Given the description of an element on the screen output the (x, y) to click on. 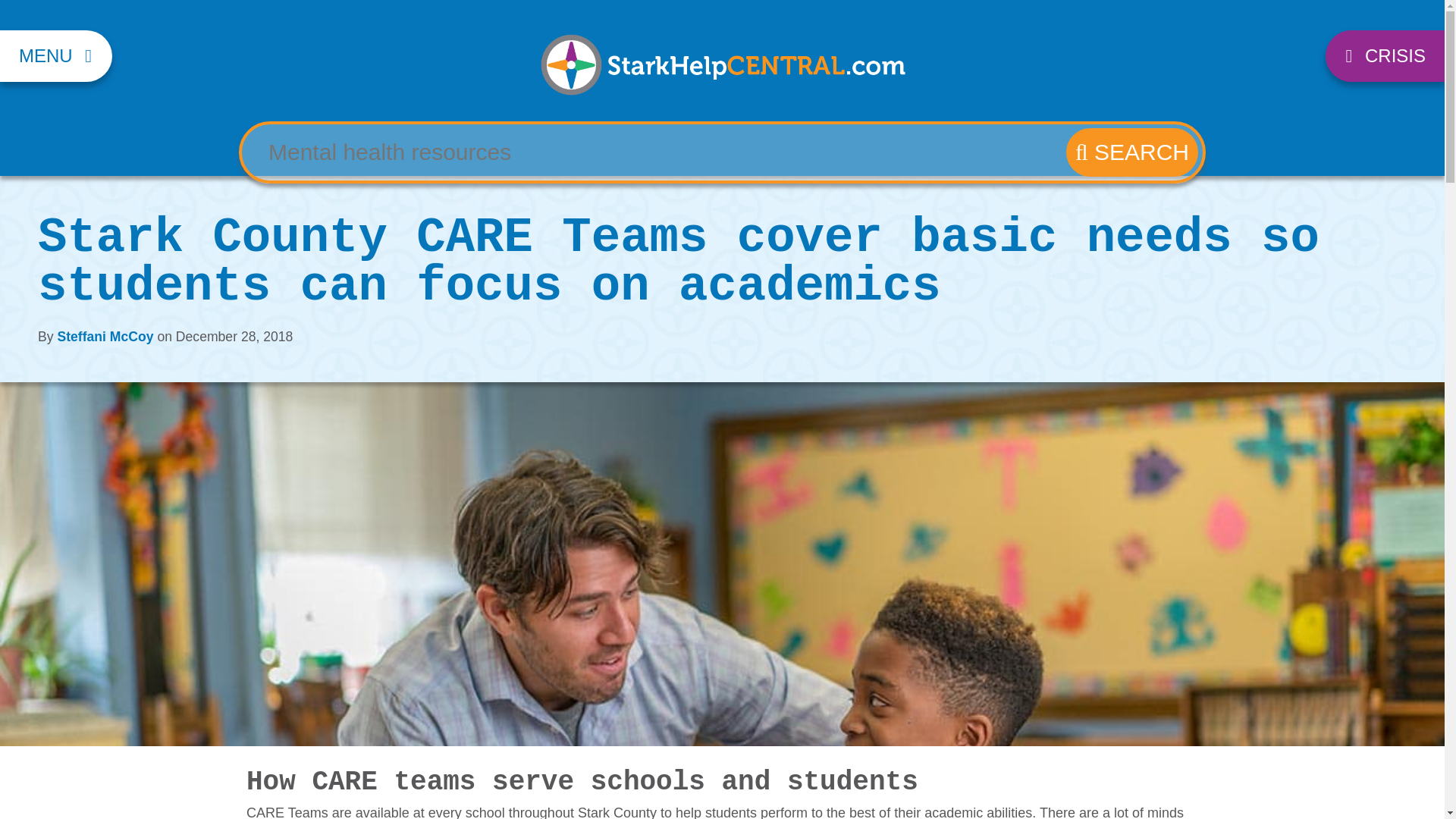
SEARCH (1131, 151)
MENU (56, 55)
Steffani McCoy (104, 336)
